Given the description of an element on the screen output the (x, y) to click on. 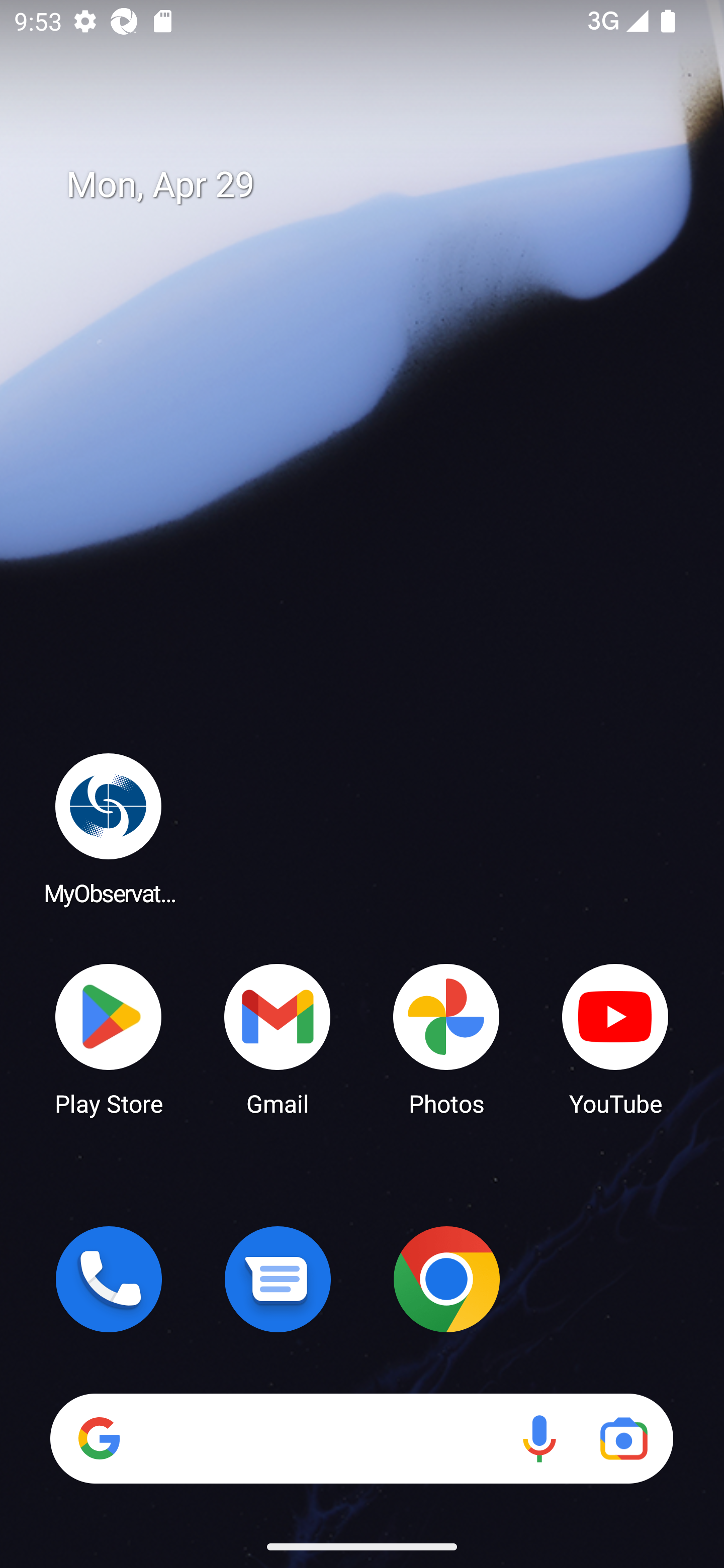
Mon, Apr 29 (375, 184)
MyObservatory (108, 828)
Play Store (108, 1038)
Gmail (277, 1038)
Photos (445, 1038)
YouTube (615, 1038)
Phone (108, 1279)
Messages (277, 1279)
Chrome (446, 1279)
Voice search (539, 1438)
Google Lens (623, 1438)
